Given the description of an element on the screen output the (x, y) to click on. 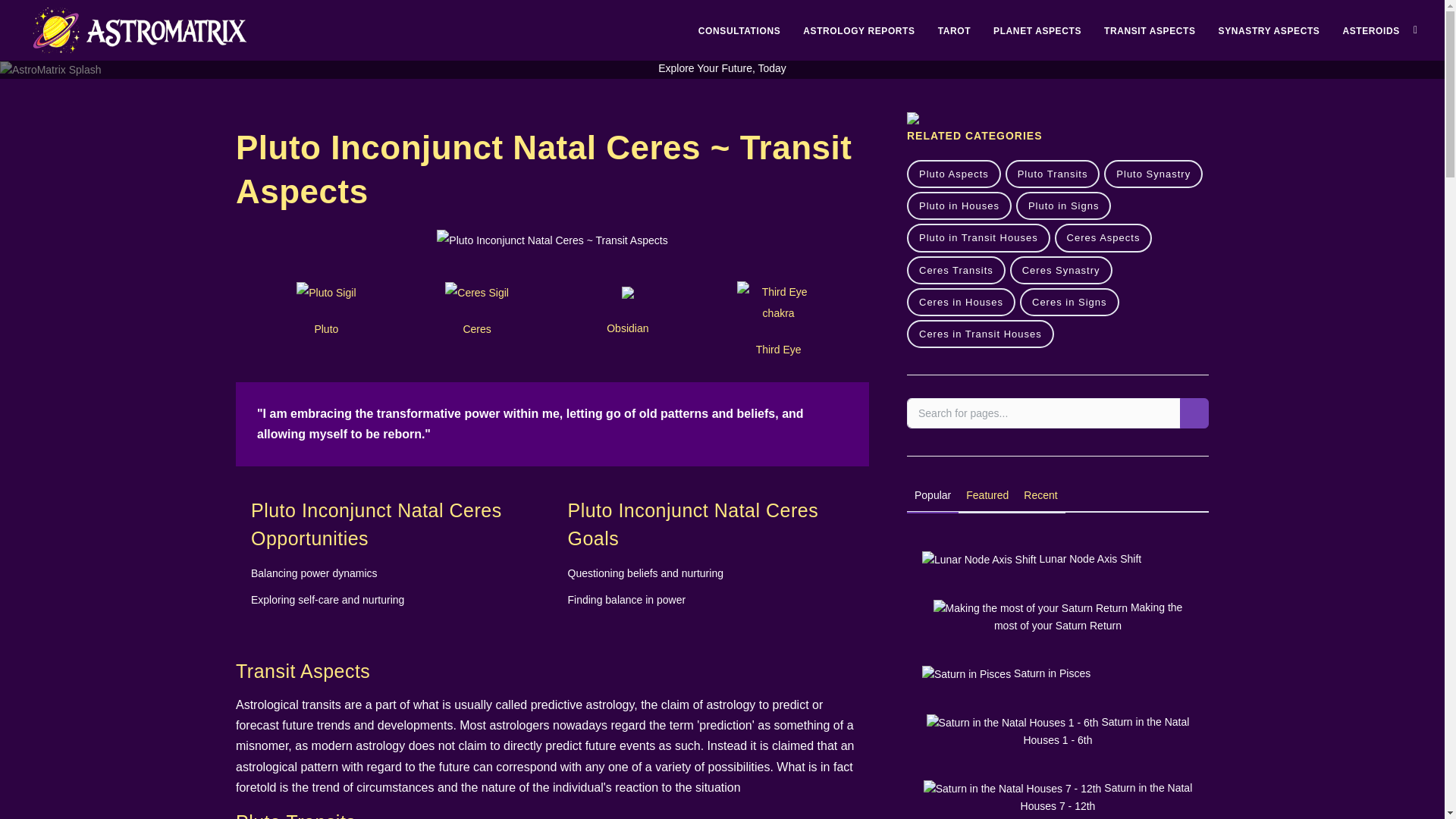
PLANET ASPECTS (1037, 31)
TRANSIT ASPECTS (1149, 31)
TAROT (953, 31)
CONSULTATIONS (738, 31)
SYNASTRY ASPECTS (1269, 31)
ASTROLOGY REPORTS (858, 31)
